Given the description of an element on the screen output the (x, y) to click on. 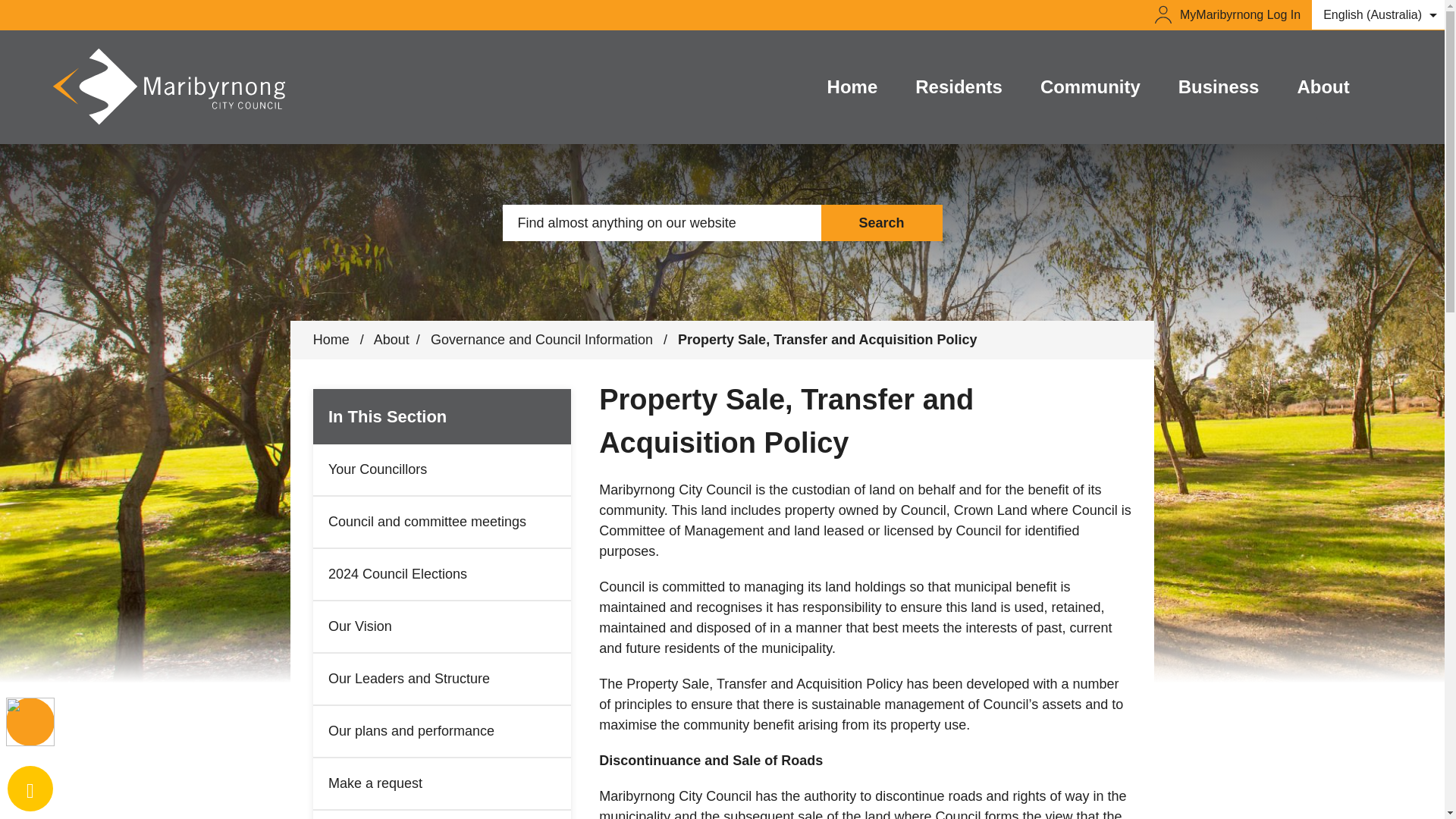
Accessibility Menu (30, 721)
MyMaribyrnong Log In (1227, 14)
Search (881, 222)
Search (881, 222)
